Given the description of an element on the screen output the (x, y) to click on. 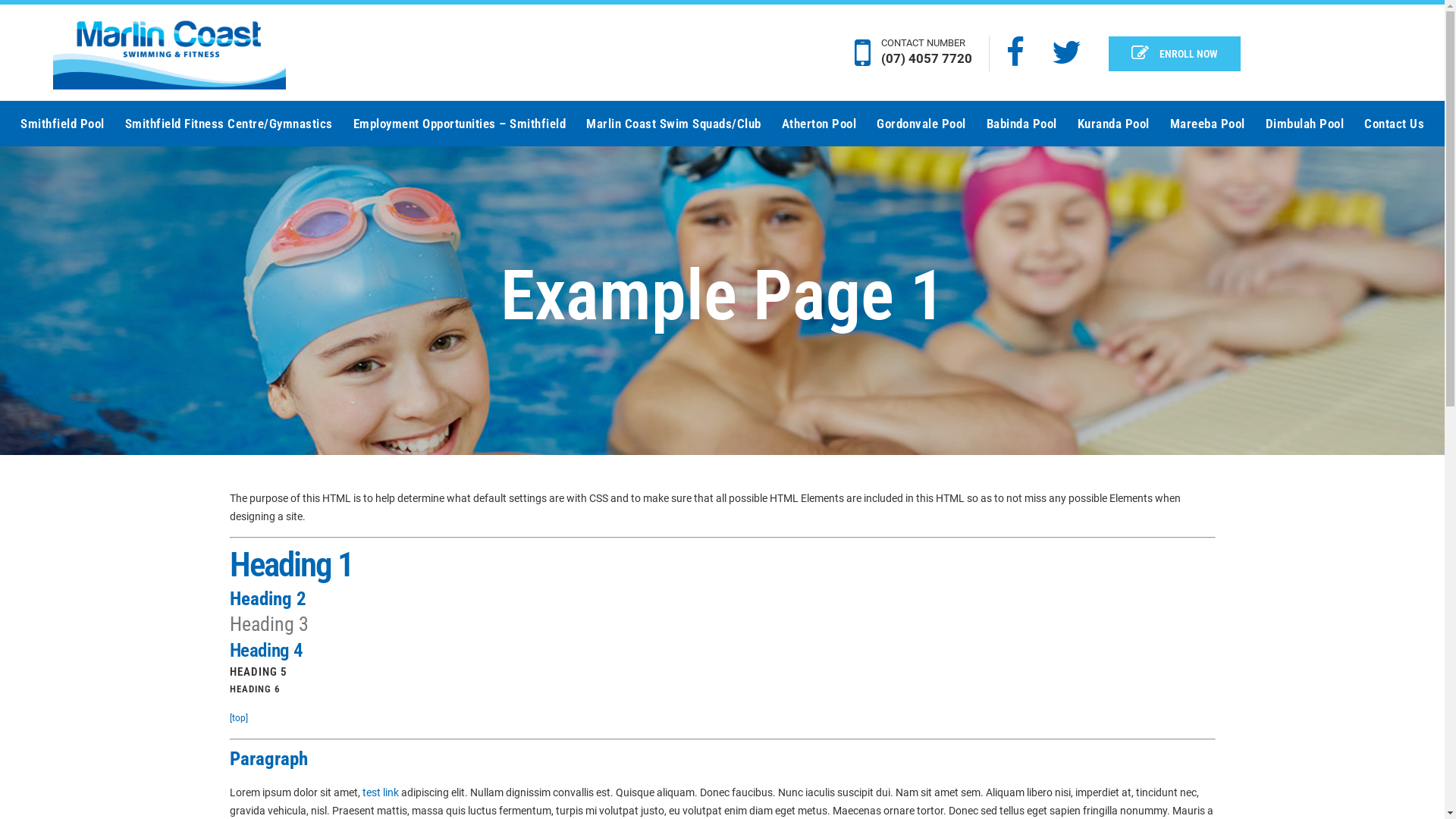
[top] Element type: text (238, 717)
(07) 4057 7720 Element type: text (926, 57)
Marlin Coast Swim Squads/Club Element type: text (673, 123)
ENROLL NOW Element type: text (1174, 53)
Babinda Pool Element type: text (1020, 123)
Mareeba Pool Element type: text (1206, 123)
Atherton Pool Element type: text (818, 123)
test link Element type: text (380, 792)
Smithfield Fitness Centre/Gymnastics Element type: text (228, 123)
Contact Us Element type: text (1394, 123)
Gordonvale Pool Element type: text (921, 123)
Smithfield Pool Element type: text (62, 123)
Kuranda Pool Element type: text (1112, 123)
Dimbulah Pool Element type: text (1303, 123)
